Given the description of an element on the screen output the (x, y) to click on. 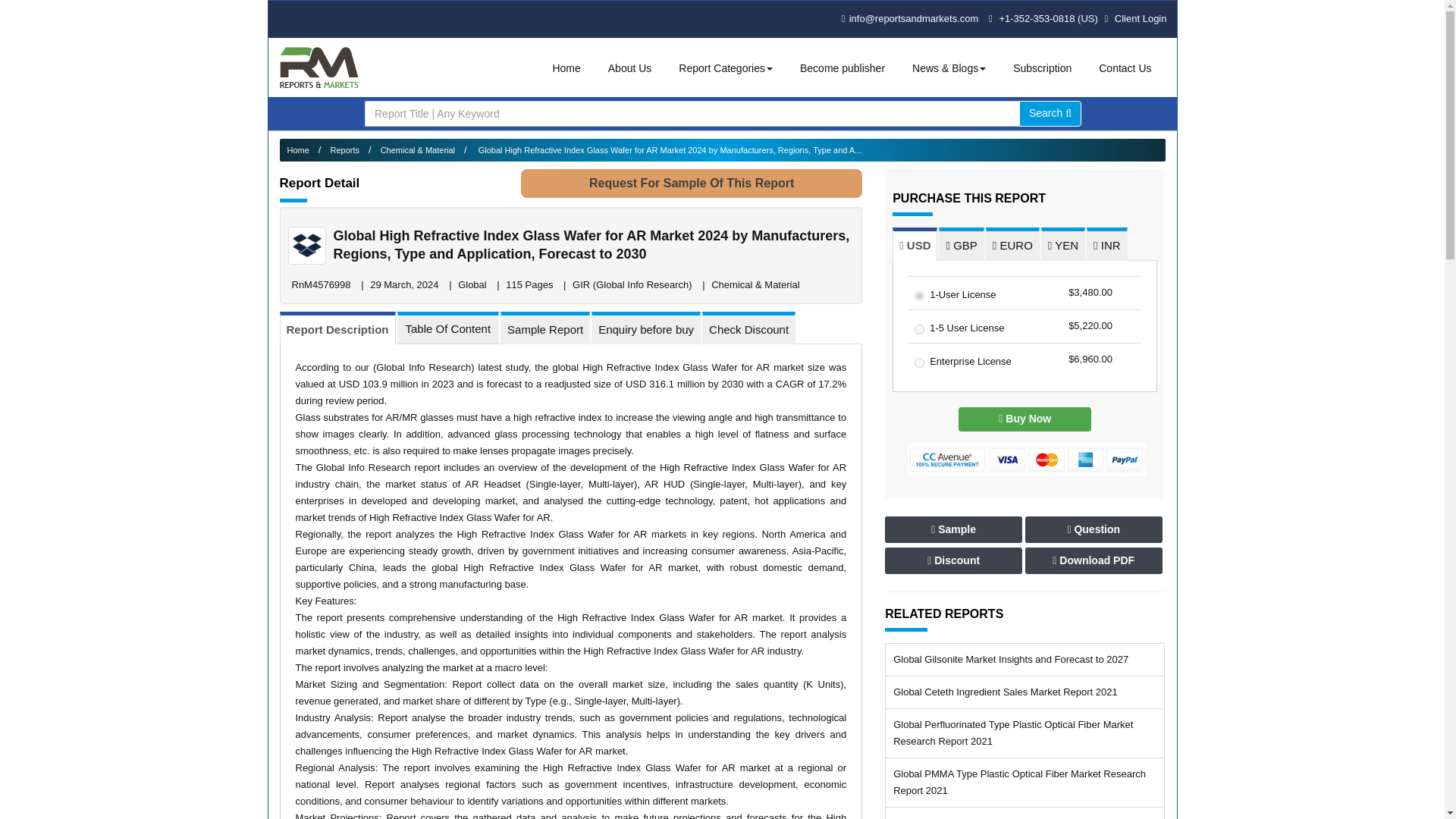
Home (566, 67)
Client Login (1134, 18)
Become publisher (842, 67)
Request for FREE Sample of this report (691, 183)
Report Categories (725, 67)
About Us (630, 67)
